Given the description of an element on the screen output the (x, y) to click on. 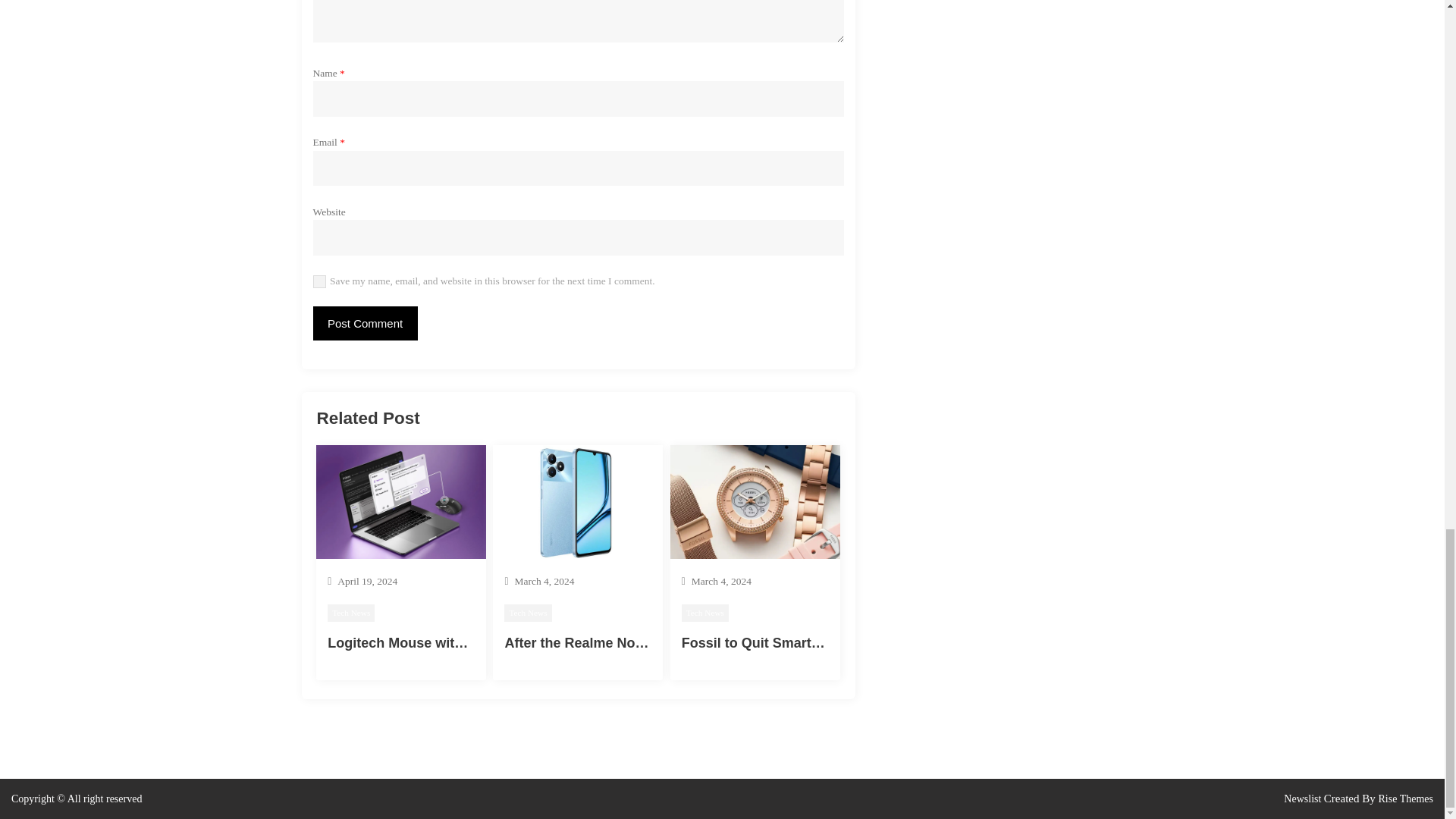
Tech News (705, 612)
Tech News (527, 612)
Post Comment (364, 323)
Logitech Mouse with AI Button (427, 642)
Tech News (350, 612)
Post Comment (364, 323)
